Given the description of an element on the screen output the (x, y) to click on. 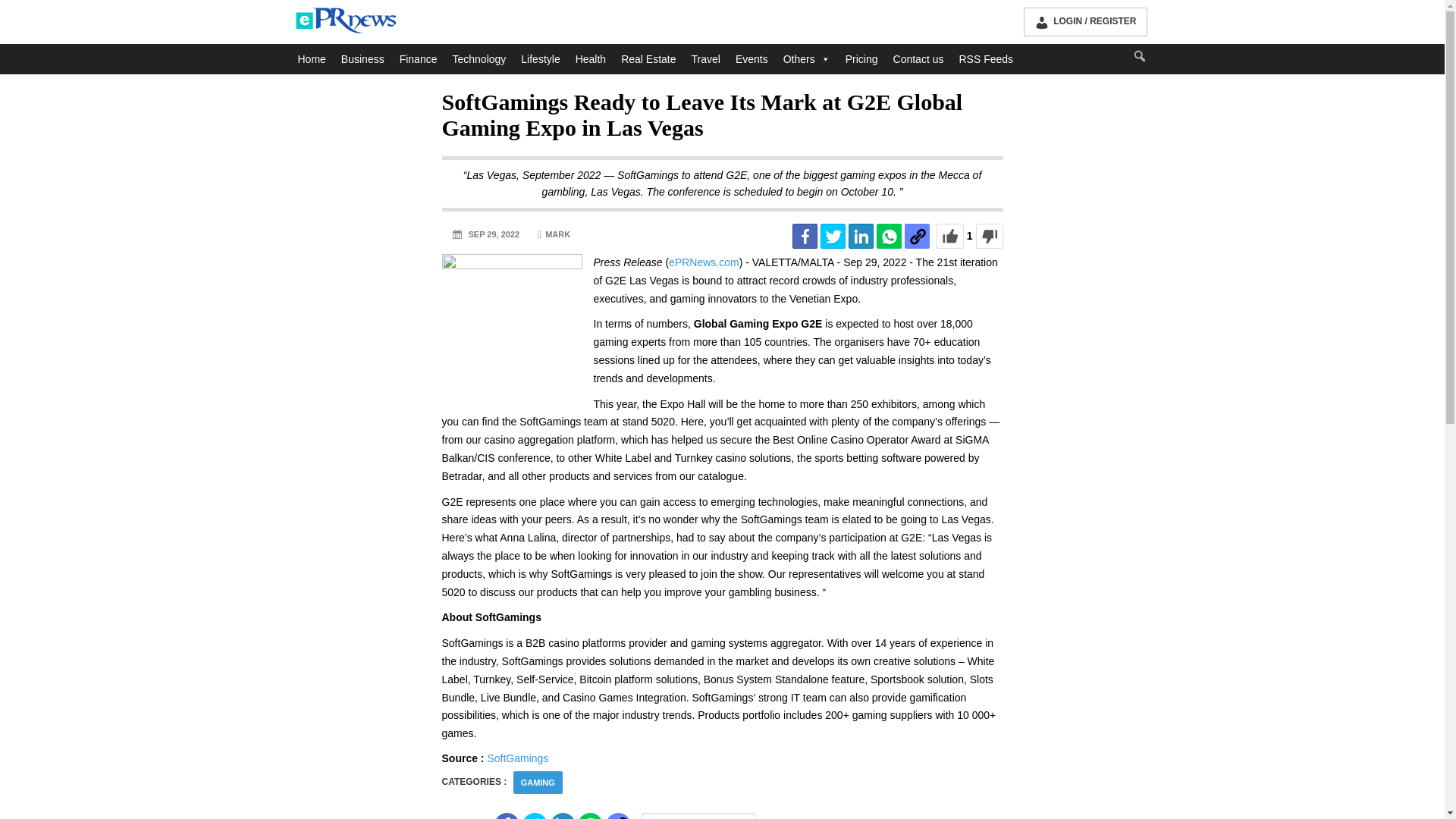
Health (589, 59)
Pricing (861, 59)
SoftGamings (517, 758)
Share on Twitter (534, 816)
Share on Twitter (833, 235)
GAMING (537, 782)
RSS Feeds (985, 59)
Share on Linkedin (562, 816)
Events (752, 59)
Travel (706, 59)
